Given the description of an element on the screen output the (x, y) to click on. 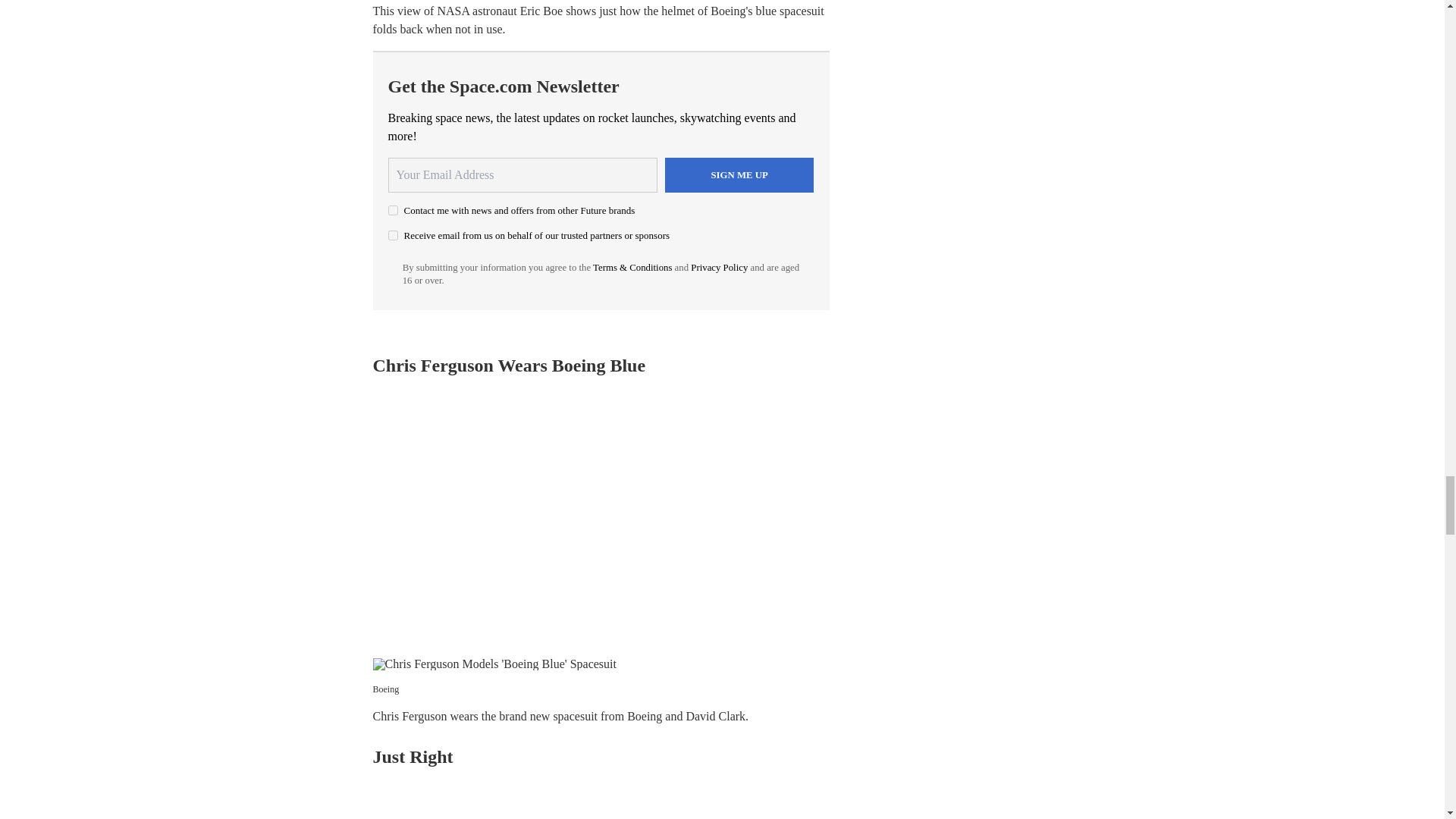
on (392, 235)
Sign me up (739, 175)
on (392, 210)
